Given the description of an element on the screen output the (x, y) to click on. 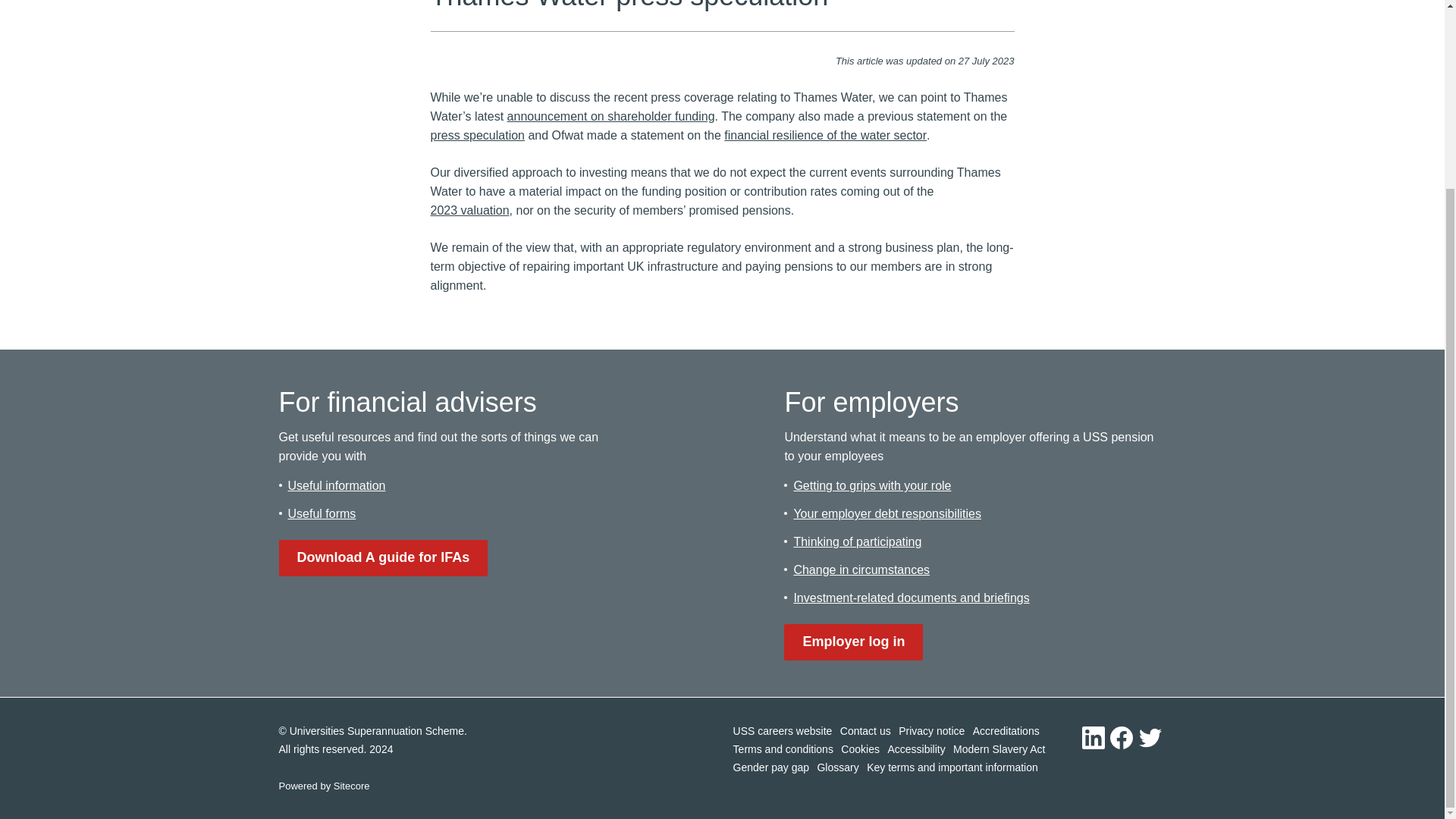
Opens in a new window (477, 135)
financial resilience of the water sector (824, 135)
Useful information (336, 485)
Thinking of participating (857, 541)
Change in circumstances (861, 569)
Opens in a new window (853, 642)
Download A guide for IFAs (383, 557)
Accreditations (1005, 730)
Opens in a new window (782, 730)
Privacy notice (930, 730)
Useful forms (322, 513)
press speculation (477, 135)
Employer log in (853, 642)
Cookies (860, 749)
Investment-related documents and briefings (911, 597)
